Given the description of an element on the screen output the (x, y) to click on. 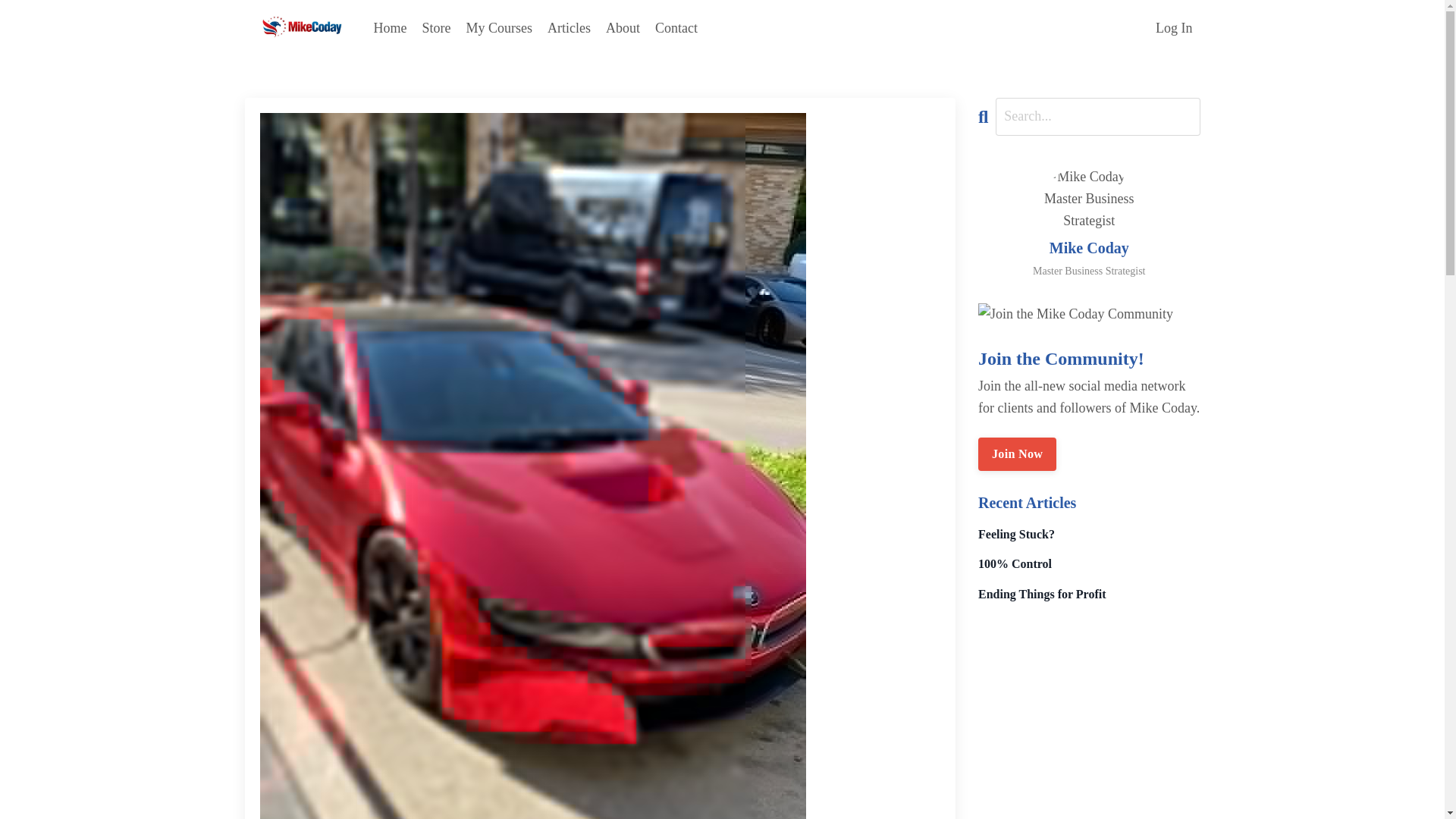
About (622, 28)
Join Now (1017, 453)
Home (389, 28)
Ending Things for Profit (1088, 594)
Feeling Stuck? (1088, 534)
My Courses (498, 28)
Store (435, 28)
Contact (676, 28)
Log In (1174, 28)
Articles (569, 28)
